Given the description of an element on the screen output the (x, y) to click on. 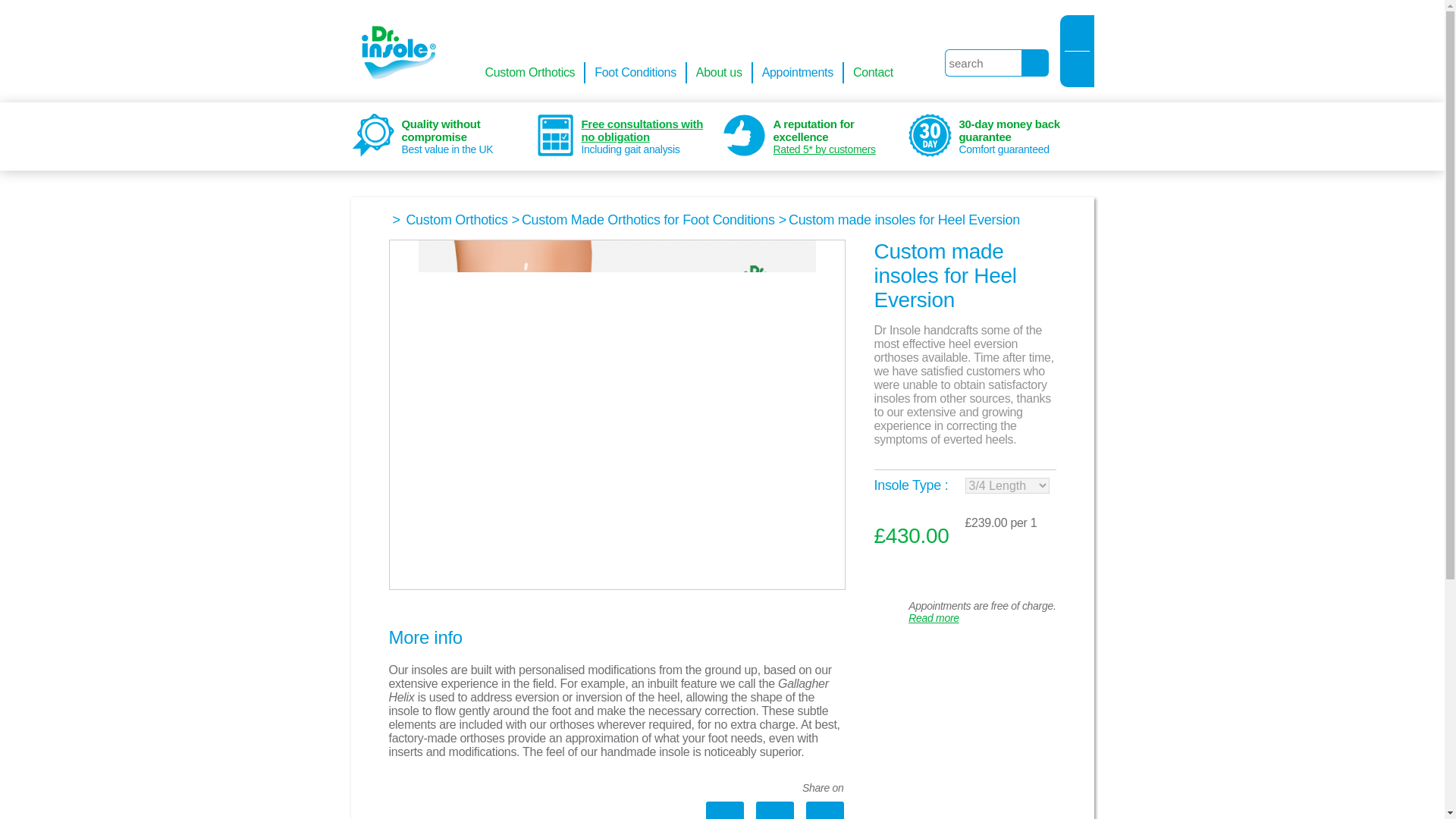
Login (1077, 32)
Custom Orthotics (456, 219)
Custom Made Orthotics for Foot Conditions (647, 219)
About us (719, 72)
Dr. Insole - Foot Orthotic Specialist in London (390, 50)
View my shopping cart (1077, 70)
Book a free appointment with our specialist (935, 574)
Login to your customer account (1077, 32)
Dr. Insole - Foot Orthotic Specialist in London (394, 53)
Custom Orthotics (531, 72)
Foot Conditions (636, 72)
